Given the description of an element on the screen output the (x, y) to click on. 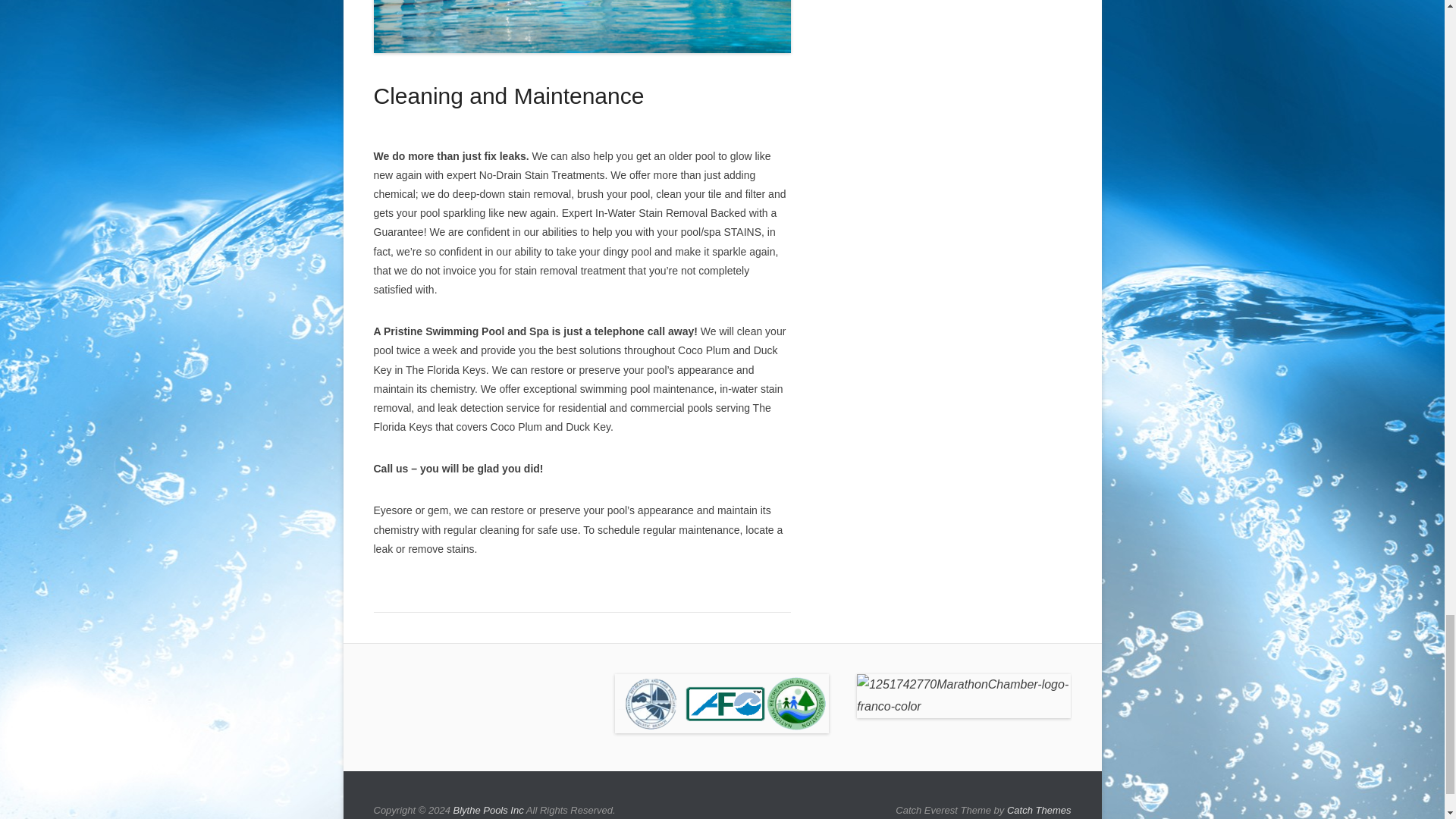
Permalink to Cleaning and Maintenance (581, 26)
Catch Themes (1039, 809)
Facebook (384, 686)
Blythe Pools Inc (487, 809)
Blythe Pools Inc (487, 809)
Cleaning and Maintenance (507, 95)
Catch Themes (1039, 809)
Facebook (384, 686)
